Given the description of an element on the screen output the (x, y) to click on. 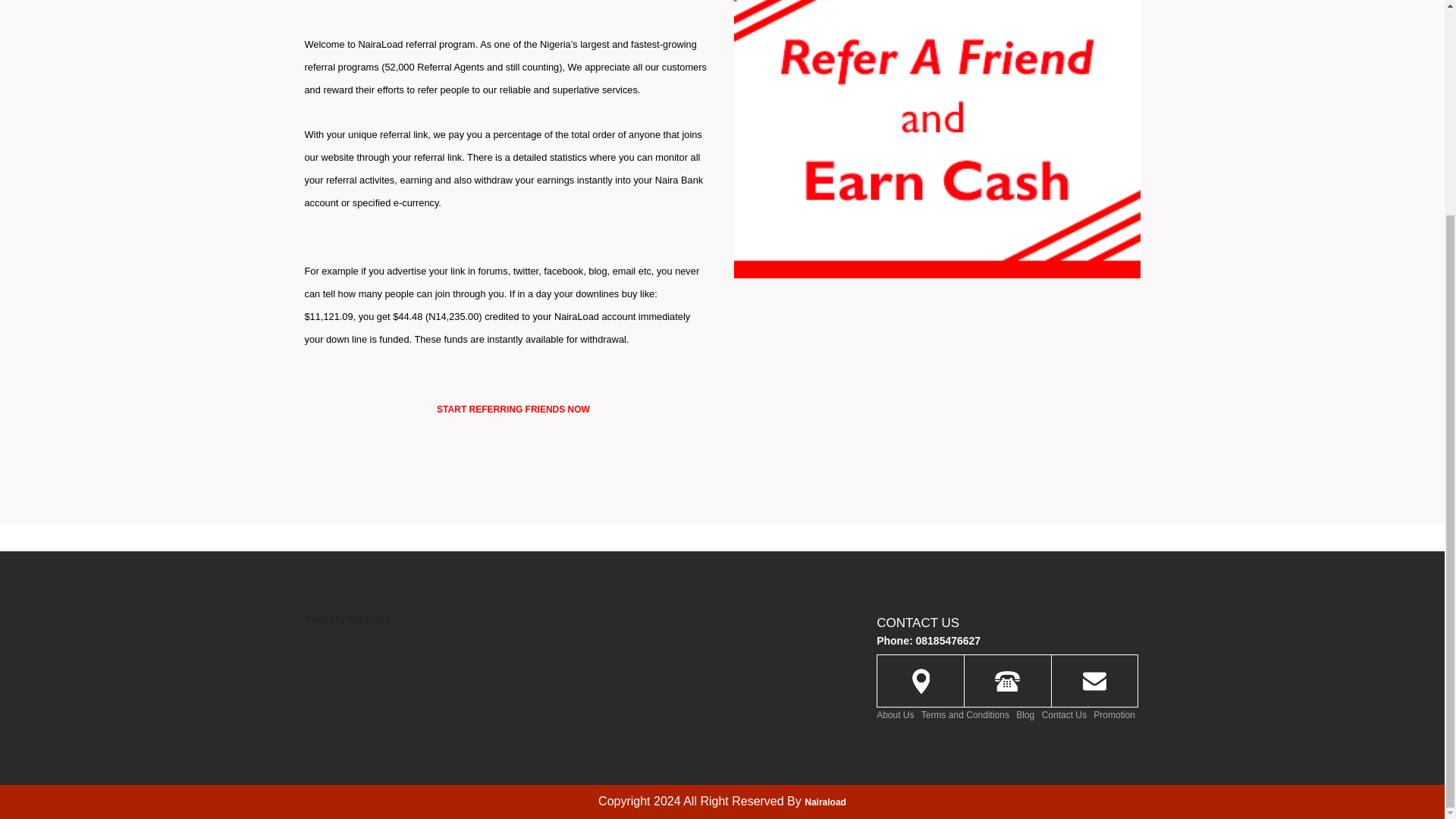
Nairaload (825, 801)
About Us (895, 715)
Blog (1024, 715)
Contact Us (1064, 715)
About Us (895, 715)
Contact Us (1064, 715)
Tweets by NairaLoad (347, 619)
Blog (1024, 715)
Terms and Conditions (965, 715)
START REFERRING FRIENDS NOW (512, 408)
Promotion (1114, 715)
Terms and Conditions (965, 715)
Promotion (1114, 715)
